Given the description of an element on the screen output the (x, y) to click on. 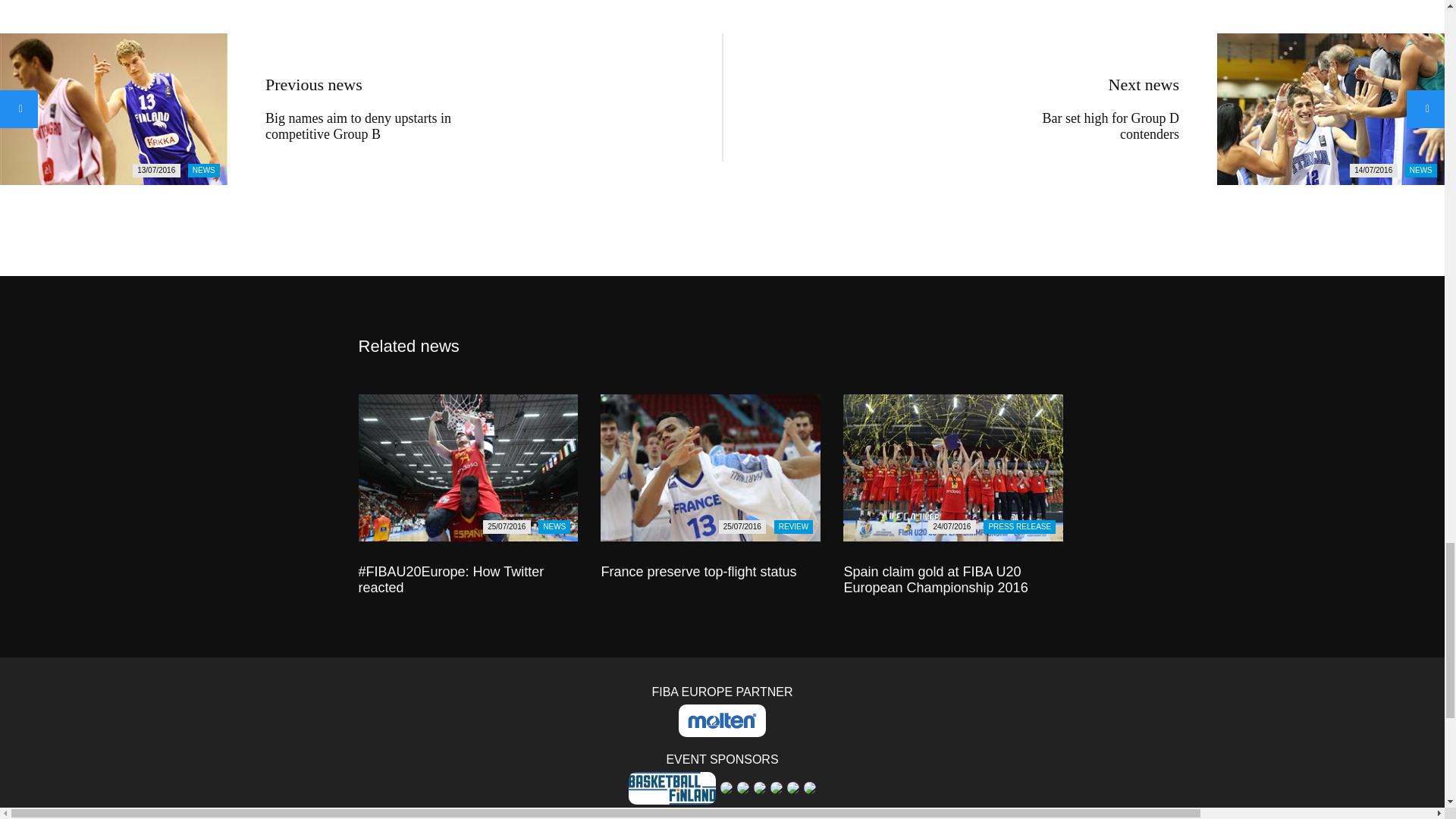
Veikkaus (755, 814)
Basketball Finland (672, 788)
Bilia (726, 787)
Helsinki Sport City (742, 787)
Lehtimaki (809, 787)
Holiday Inn (759, 787)
Iltasanomat (793, 787)
Pirkka (688, 814)
HSL (776, 787)
Novelle (671, 814)
SOL (722, 814)
Vantaan Energia (738, 814)
Viking Line (771, 814)
Molten BG5000 Special Website (721, 720)
Radio Rock (704, 814)
